Given the description of an element on the screen output the (x, y) to click on. 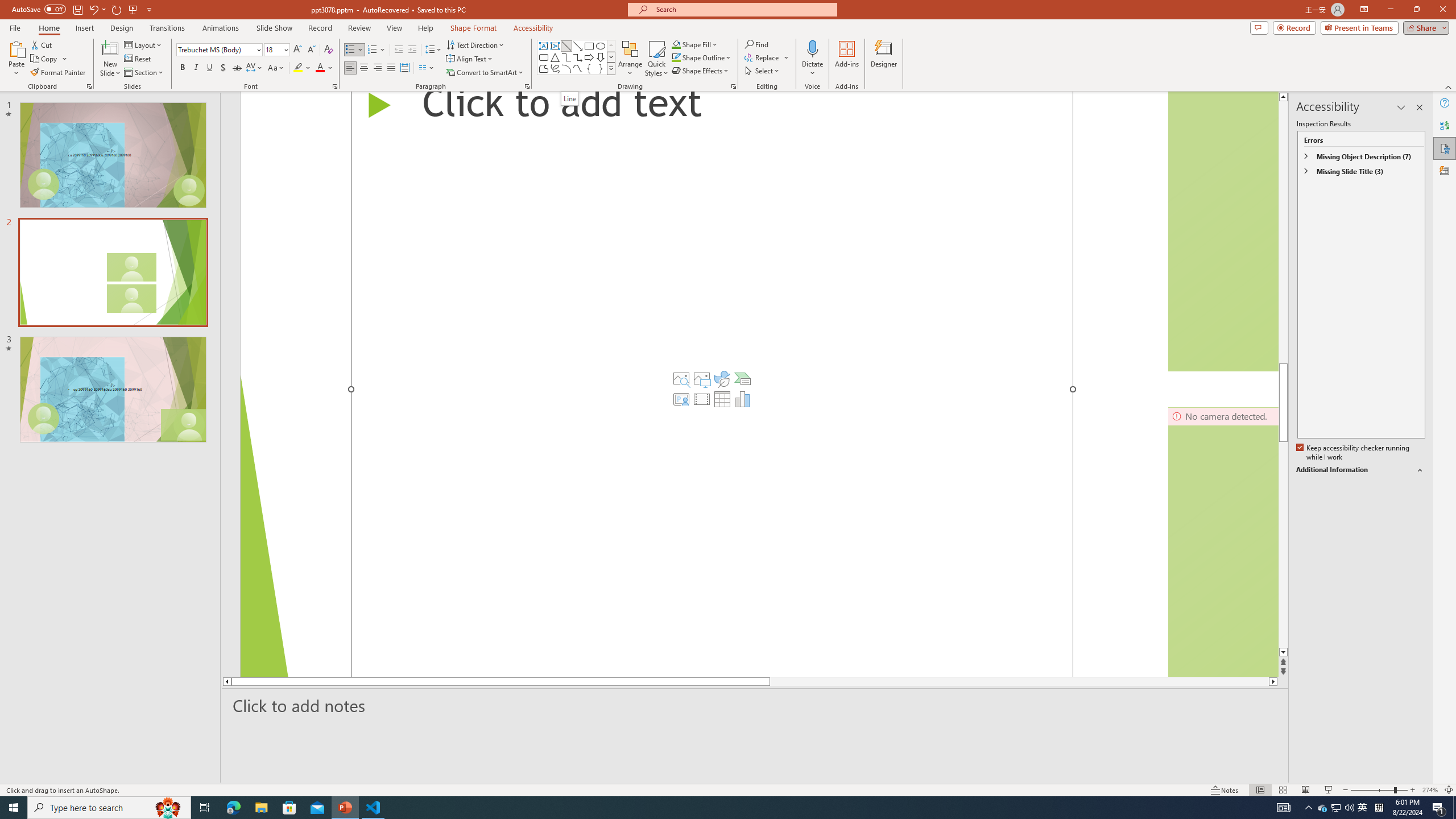
AutomationID: ShapesInsertGallery (576, 57)
Bullets (354, 49)
Align Right (377, 67)
Text Highlight Color Yellow (297, 67)
Layout (143, 44)
Rectangle: Rounded Corners (543, 57)
Accessibility (1444, 147)
Clear Formatting (327, 49)
Stock Images (681, 378)
Open (285, 49)
